Given the description of an element on the screen output the (x, y) to click on. 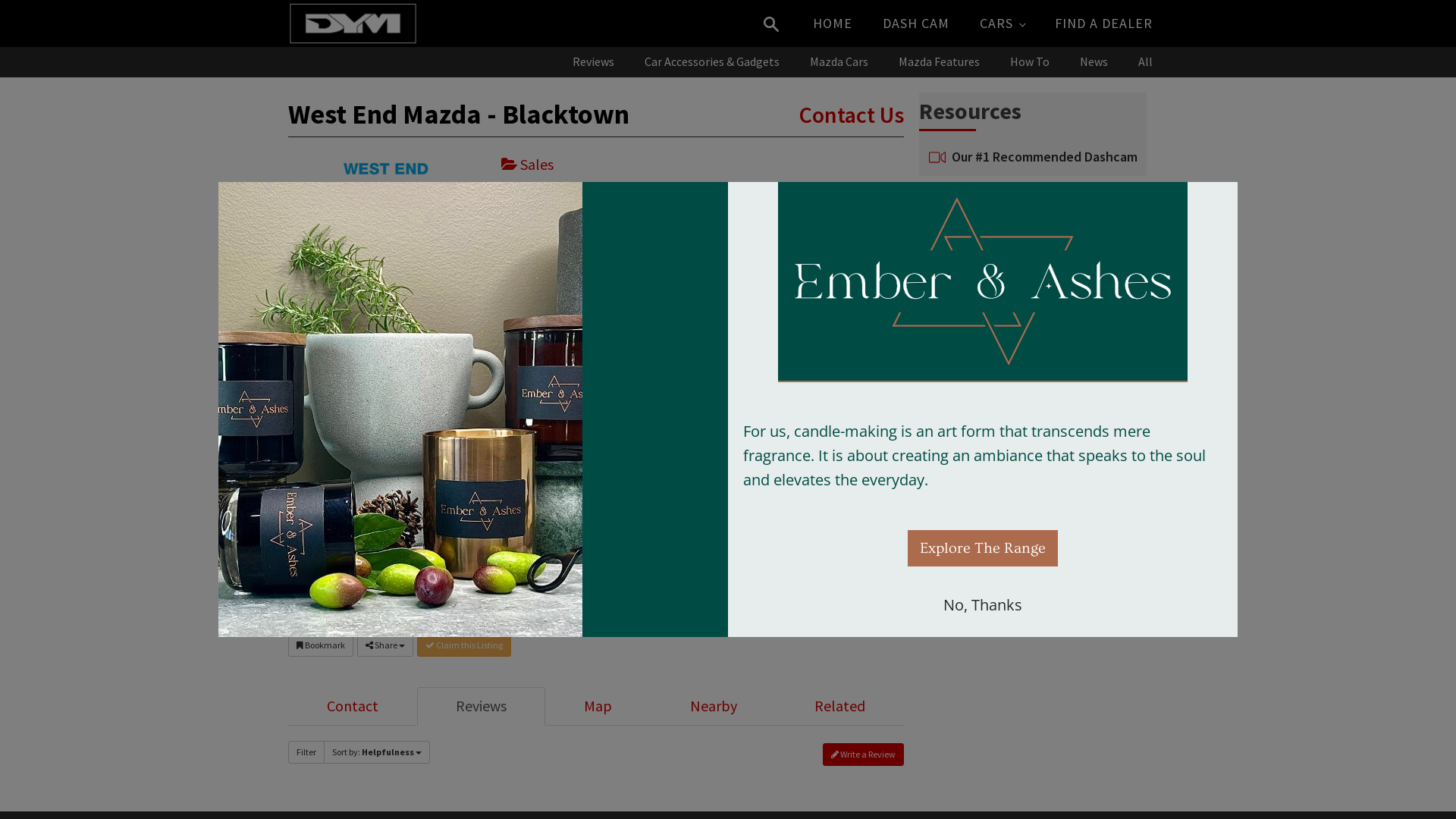
2019 Next-Gen Mazda 3 Sets New Safety Record Element type: text (1047, 278)
No, Thanks Element type: text (982, 604)
Bookmark Element type: text (320, 644)
Claim this Listing Element type: text (464, 644)
Contact Element type: text (352, 706)
HOME Element type: text (832, 23)
Mazda 3 2019 Review With Price And Specs Element type: text (1042, 327)
Mazda Cars Element type: text (838, 62)
Sort by: Helpfulness Element type: text (376, 751)
Our #1 Recommended Dashcam Element type: text (1043, 157)
News Element type: text (1093, 62)
How To Element type: text (1029, 62)
Related Element type: text (839, 706)
Visit Dealer Website Element type: text (586, 247)
Sales Element type: text (527, 163)
Write a Review Element type: text (862, 754)
Reviews Element type: text (593, 62)
Nearby Element type: text (713, 706)
Filter Element type: text (306, 751)
FIND A DEALER Element type: text (1103, 23)
Car Accessories & Gadgets Element type: text (711, 62)
106 Sunnyholt Road, Blacktown, New South Wales, 2148 Element type: text (702, 198)
How To Jump Start A Car Element type: text (1022, 363)
Map Element type: text (597, 706)
Search Element type: text (781, 10)
DASH CAM Element type: text (915, 23)
CARS Element type: text (1001, 23)
Share Element type: text (385, 644)
Contact Us Element type: text (851, 114)
Mazda Features Element type: text (938, 62)
Explore The Range Element type: text (982, 548)
All Element type: text (1145, 62)
Reviews Element type: text (481, 706)
